Given the description of an element on the screen output the (x, y) to click on. 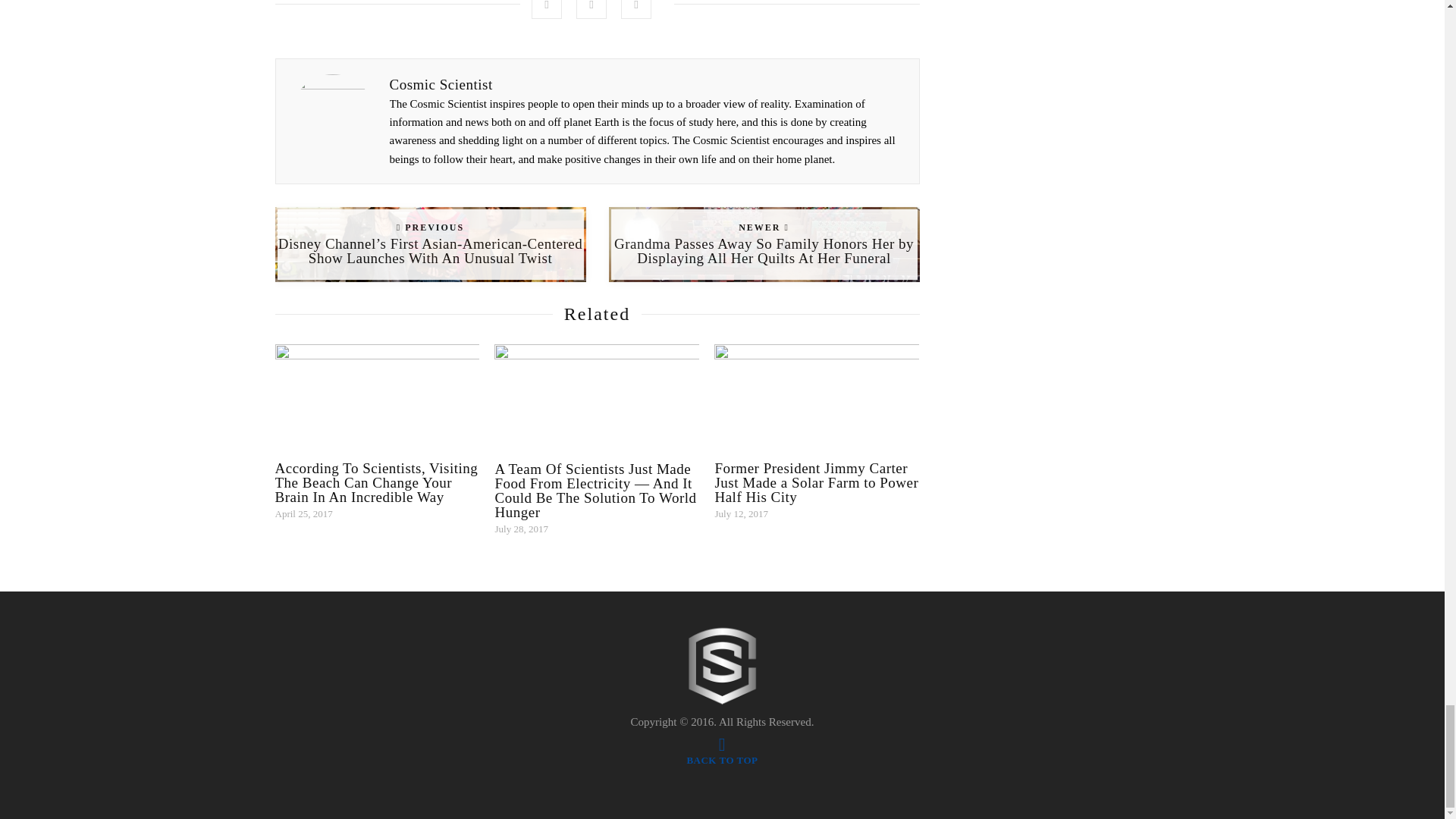
Posts by Cosmic Scientist (441, 84)
Cosmic Scientist (722, 666)
Cosmic Scientist (441, 84)
BACK TO TOP (721, 752)
